Given the description of an element on the screen output the (x, y) to click on. 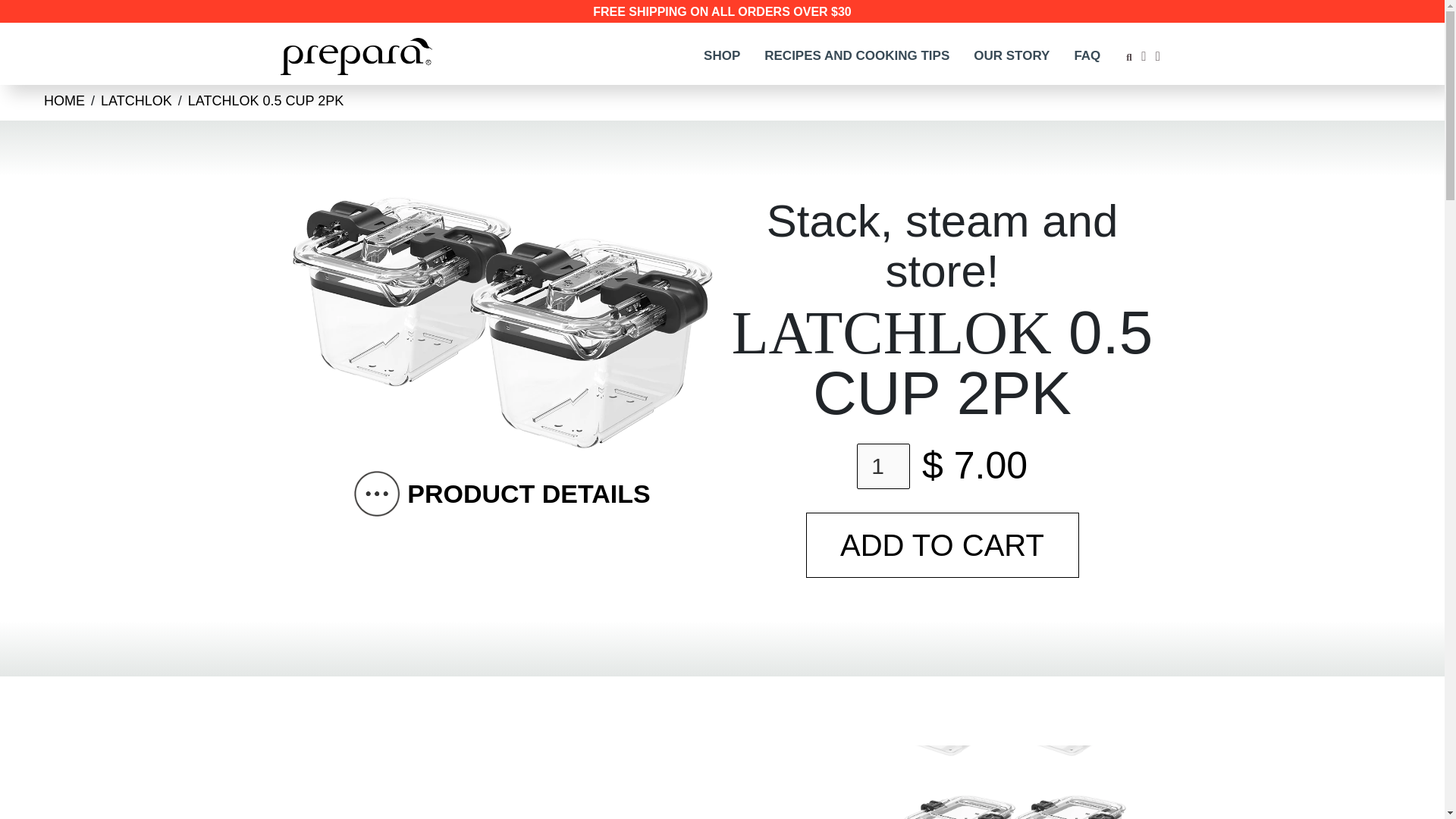
OUR STORY (1010, 55)
SHOP (721, 55)
FAQ (1086, 55)
RECIPES AND COOKING TIPS (856, 55)
1 (883, 465)
